Given the description of an element on the screen output the (x, y) to click on. 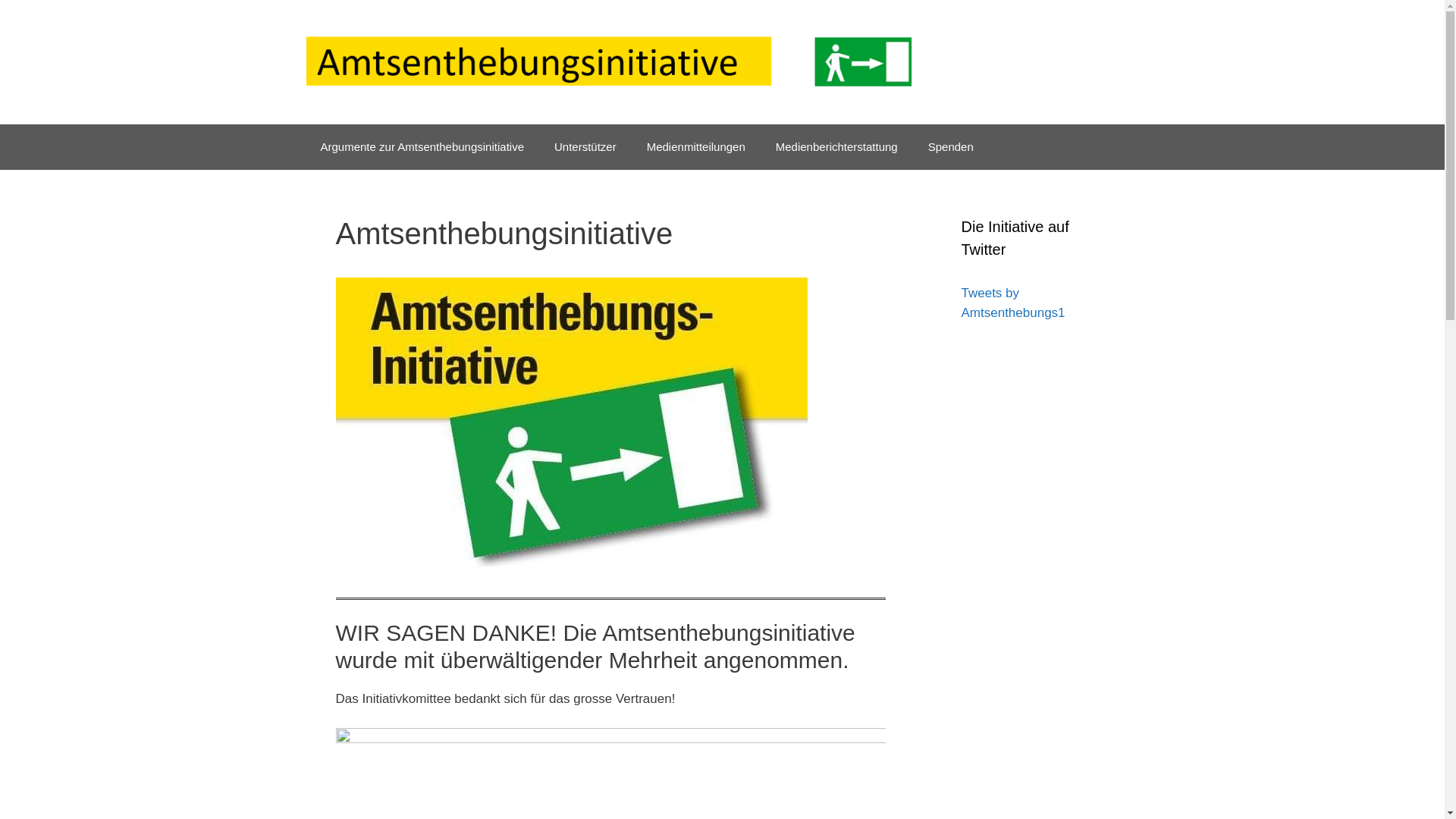
Argumente zur Amtsenthebungsinitiative Element type: text (421, 146)
Medienmitteilungen Element type: text (695, 146)
Amtsenthebungsinitiative Element type: hover (607, 62)
Spenden Element type: text (950, 146)
Tweets by Amtsenthebungs1 Element type: text (1013, 302)
Medienberichterstattung Element type: text (836, 146)
Amtsenthebungsinitiative Element type: hover (607, 61)
